Given the description of an element on the screen output the (x, y) to click on. 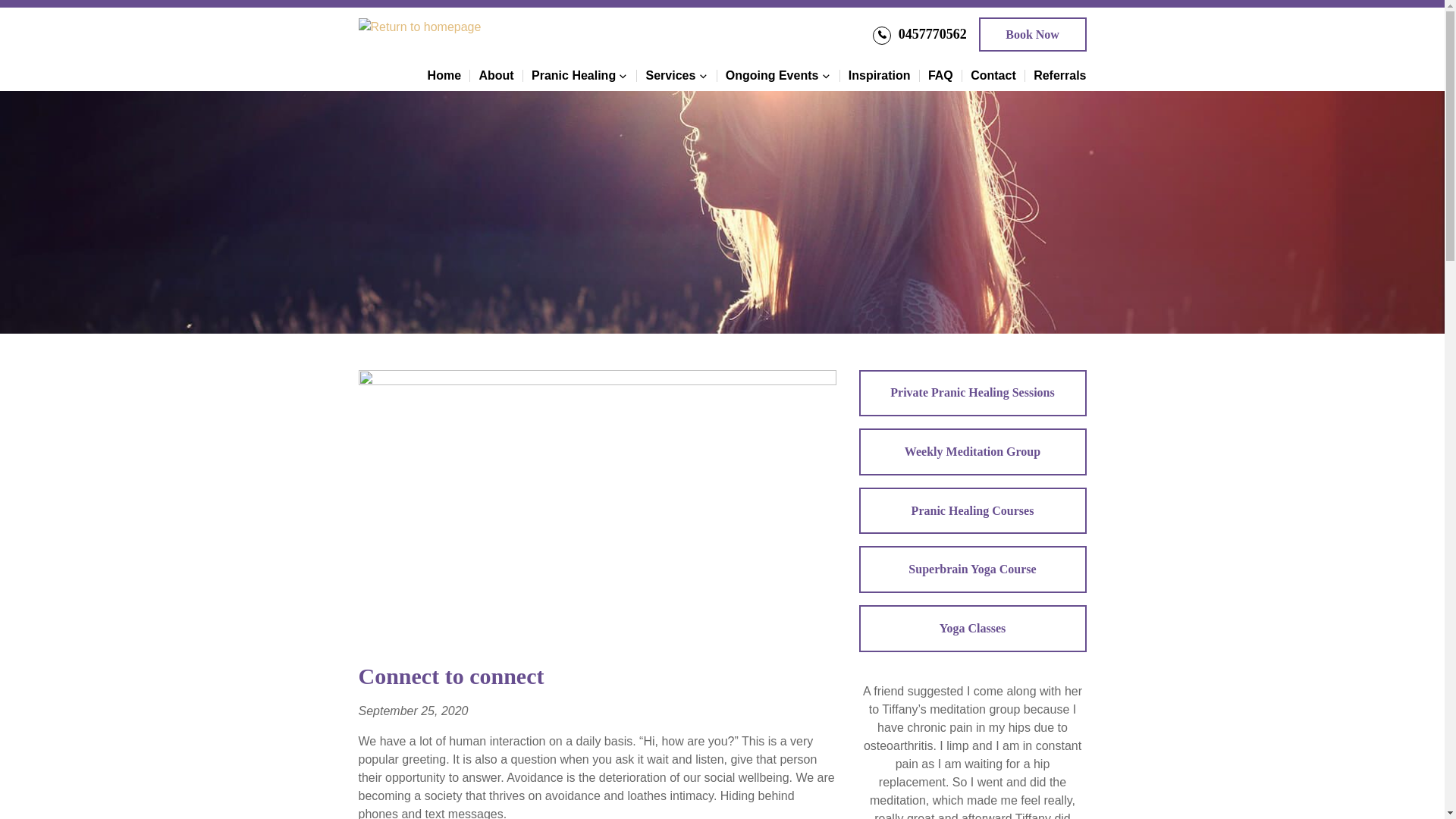
Home Element type: text (444, 75)
Inspiration Element type: text (879, 75)
FAQ Element type: text (940, 75)
0457770562 Element type: text (919, 33)
Yoga Classes Element type: text (971, 628)
Weekly Meditation Group Element type: text (971, 451)
Book Now Element type: text (1032, 34)
About Element type: text (495, 75)
Pranic Healing Element type: text (579, 75)
Services Element type: text (677, 75)
Pranic Healing Courses Element type: text (971, 510)
Ongoing Events Element type: text (778, 75)
Superbrain Yoga Course Element type: text (971, 569)
Private Pranic Healing Sessions Element type: text (971, 393)
Referrals Element type: text (1059, 75)
September 25, 2020 Element type: text (412, 710)
Contact Element type: text (993, 75)
